Given the description of an element on the screen output the (x, y) to click on. 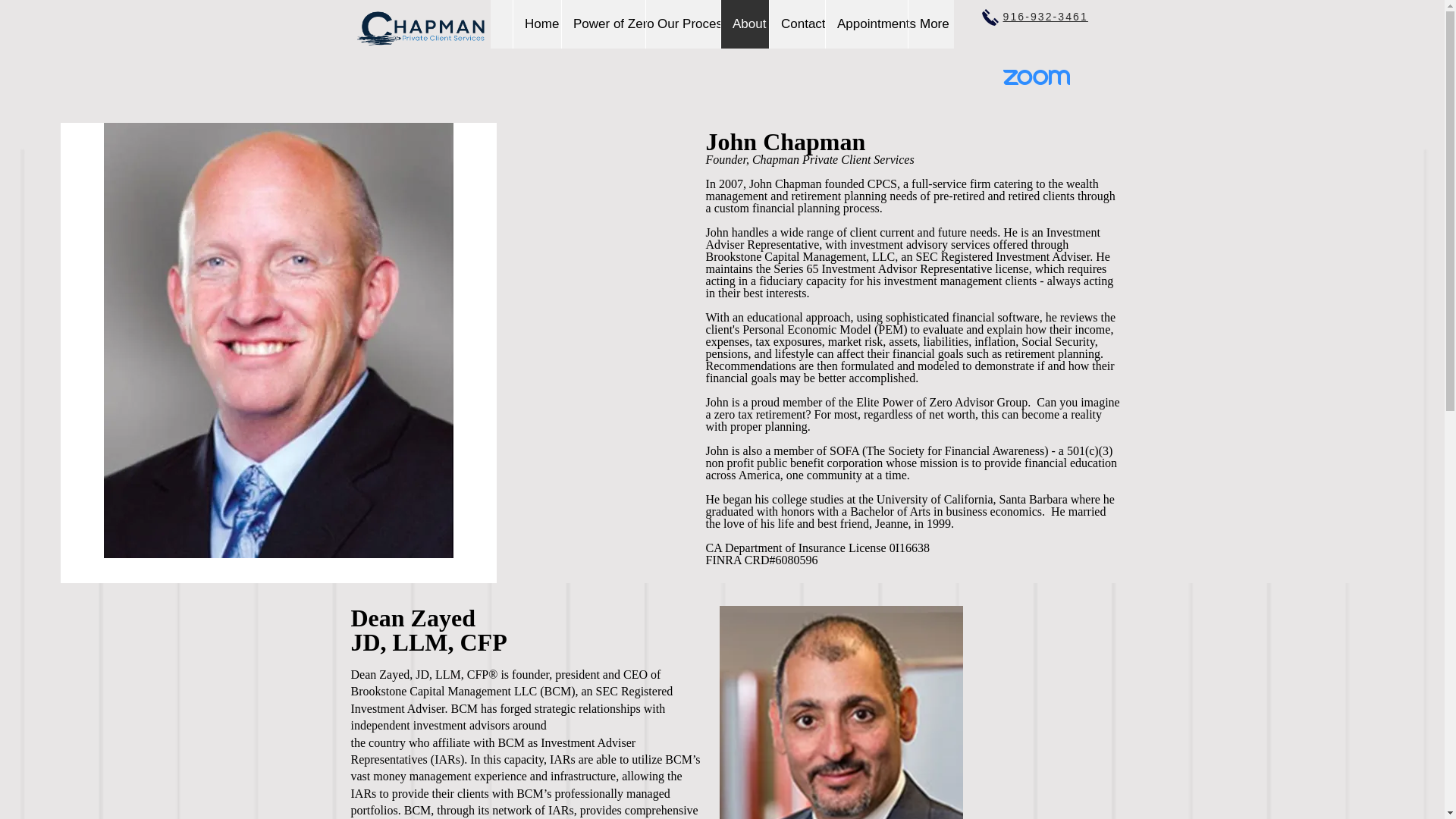
Appointments (866, 24)
Home (536, 24)
Contact (796, 24)
916-932-3461 (1045, 16)
Our Process (682, 24)
About (744, 24)
Power of Zero (602, 24)
